Given the description of an element on the screen output the (x, y) to click on. 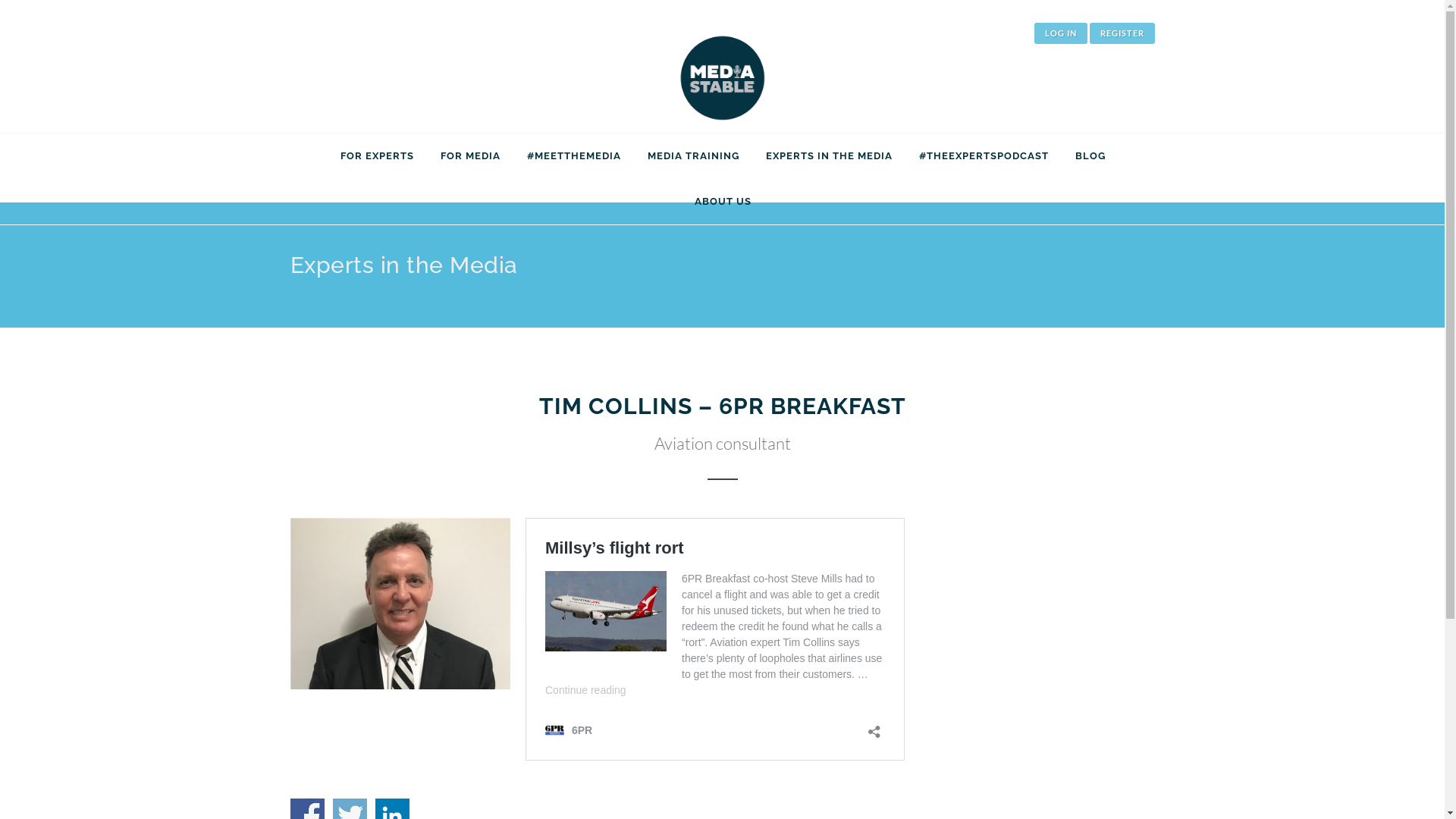
#MEETTHEMEDIA Element type: text (573, 155)
EXPERTS IN THE MEDIA Element type: text (828, 155)
FOR EXPERTS Element type: text (377, 155)
BLOG Element type: text (1090, 155)
LOG IN Element type: text (1060, 32)
MEDIA TRAINING Element type: text (693, 155)
#THEEXPERTSPODCAST Element type: text (983, 155)
ABOUT US Element type: text (722, 201)
FOR MEDIA Element type: text (470, 155)
REGISTER Element type: text (1121, 32)
